Given the description of an element on the screen output the (x, y) to click on. 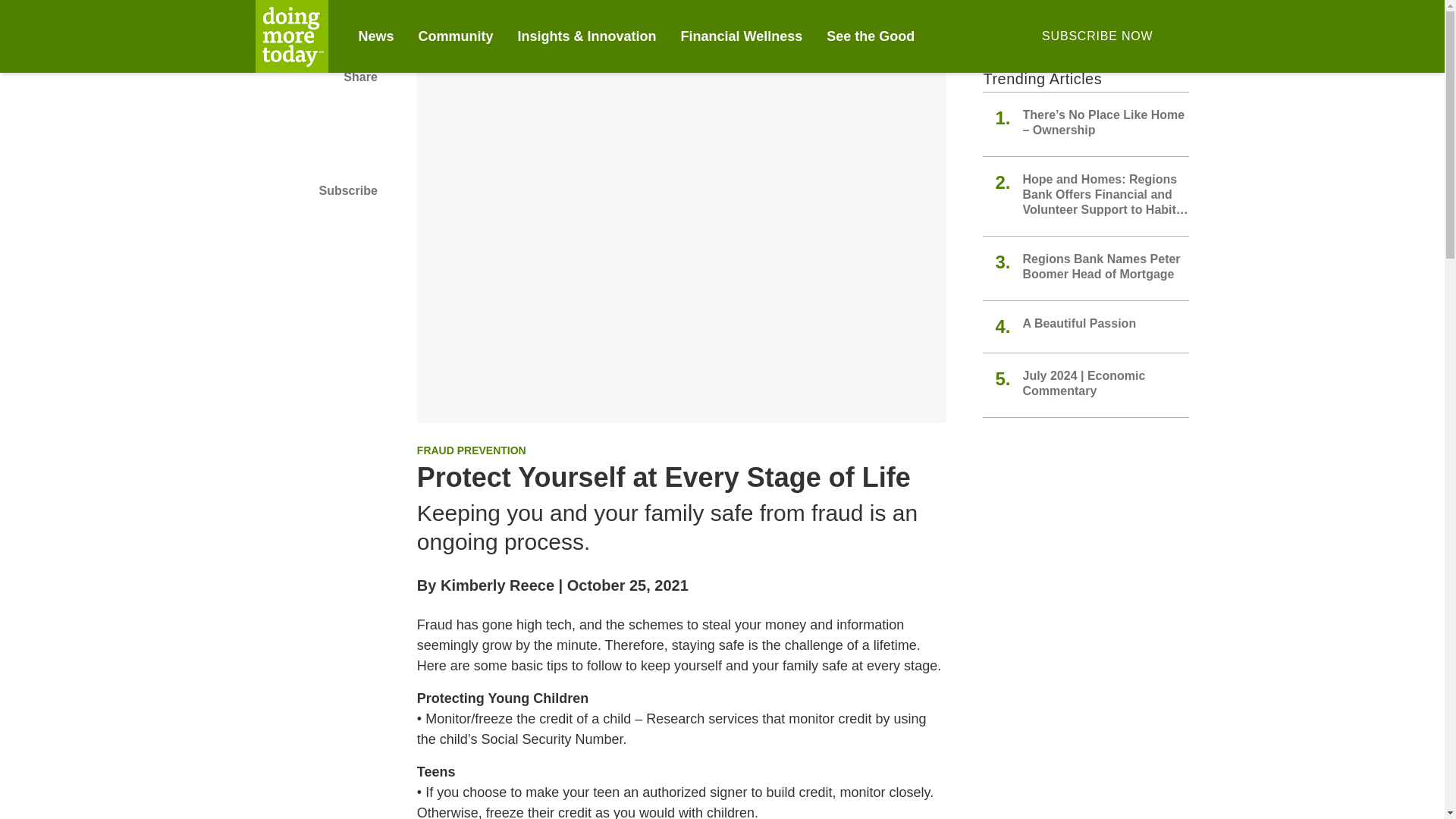
FRAUD PREVENTION (470, 450)
See the Good (870, 35)
Subscribe (315, 190)
News (375, 35)
Community (456, 35)
Financial Wellness (742, 35)
SUBSCRIBE NOW (1096, 36)
